Given the description of an element on the screen output the (x, y) to click on. 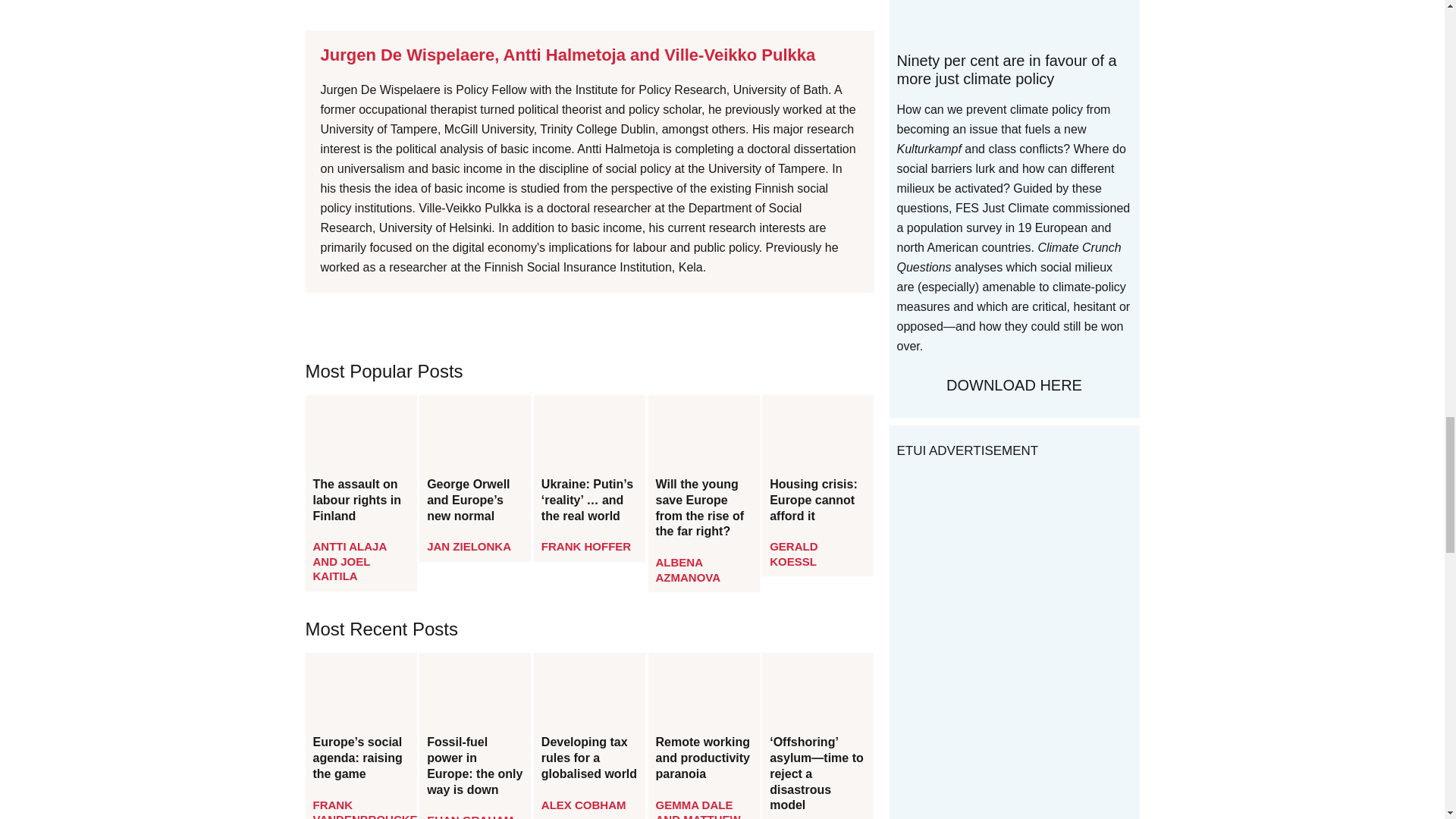
Will the young save Europe from the rise of the far right? (703, 508)
Gemma Dale and Matthew Tucker (698, 808)
Gerald Koessl (793, 553)
Jan Zielonka (468, 545)
Albena Azmanova (688, 569)
The assault on labour rights in Finland (360, 500)
Antti Alaja and Joel Kaitila (349, 560)
ANTTI ALAJA AND JOEL KAITILA (349, 560)
Frank Hoffer (585, 545)
FRANK HOFFER (585, 545)
Euan Graham (469, 816)
Alex Cobham (583, 804)
ALBENA AZMANOVA (688, 569)
